Given the description of an element on the screen output the (x, y) to click on. 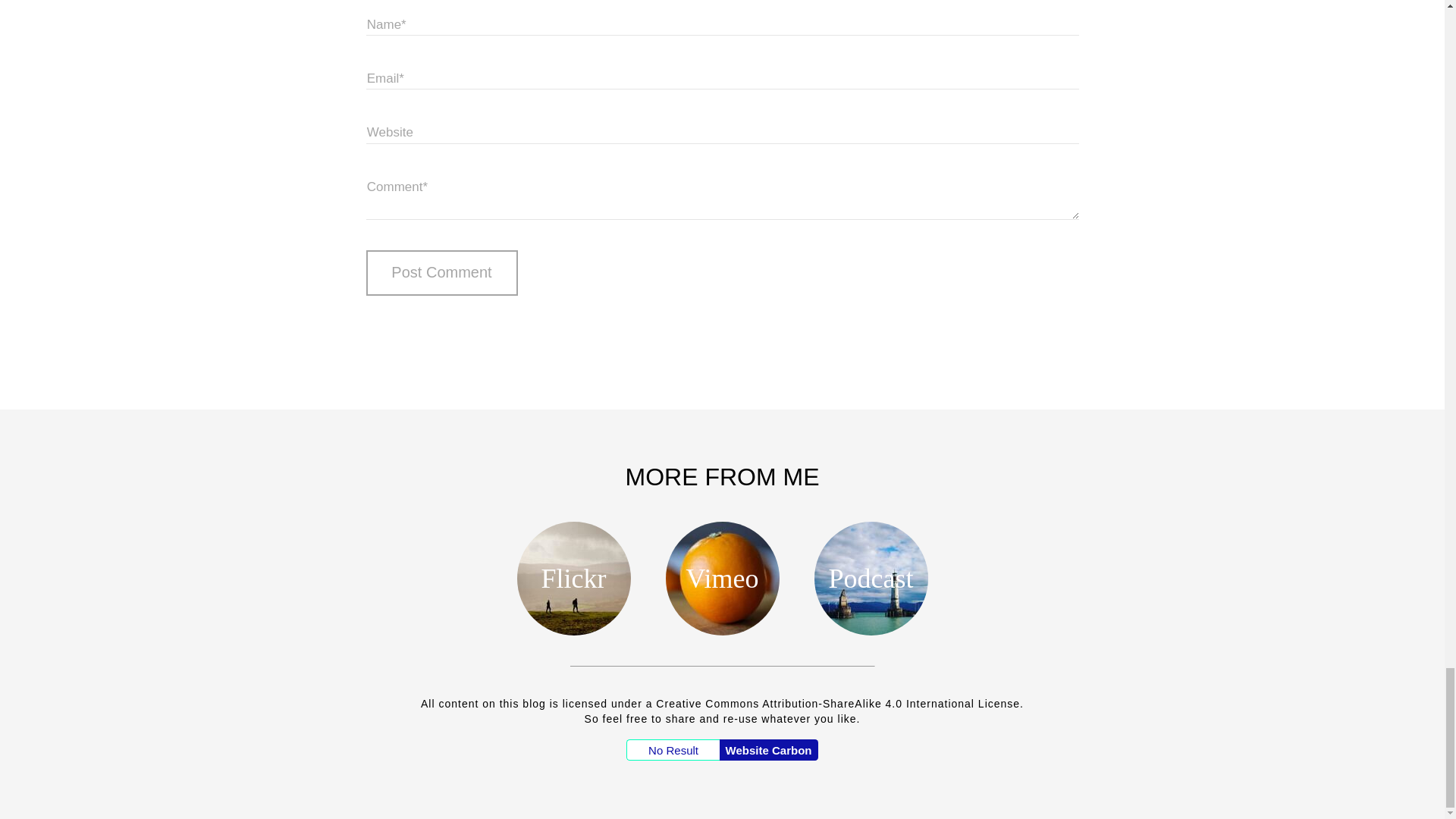
This field is required! (721, 23)
This field is required! (721, 77)
Post Comment (440, 272)
Podcast (870, 578)
Vimeo (721, 578)
Post Comment (440, 272)
Website Carbon (768, 749)
Flickr (573, 578)
This field is required! (721, 196)
